Given the description of an element on the screen output the (x, y) to click on. 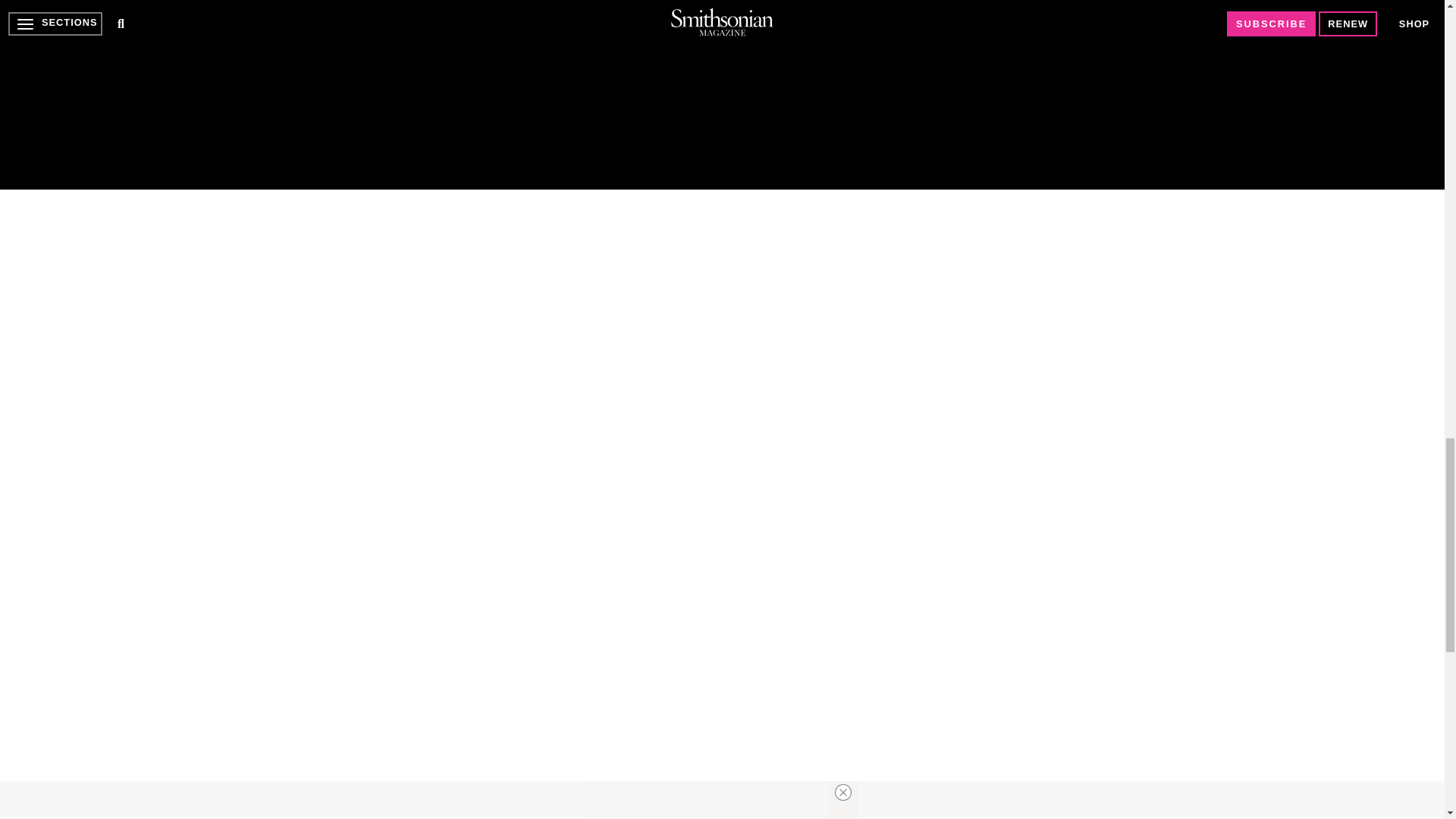
Sign Up (740, 33)
Read more from this author (542, 101)
